Given the description of an element on the screen output the (x, y) to click on. 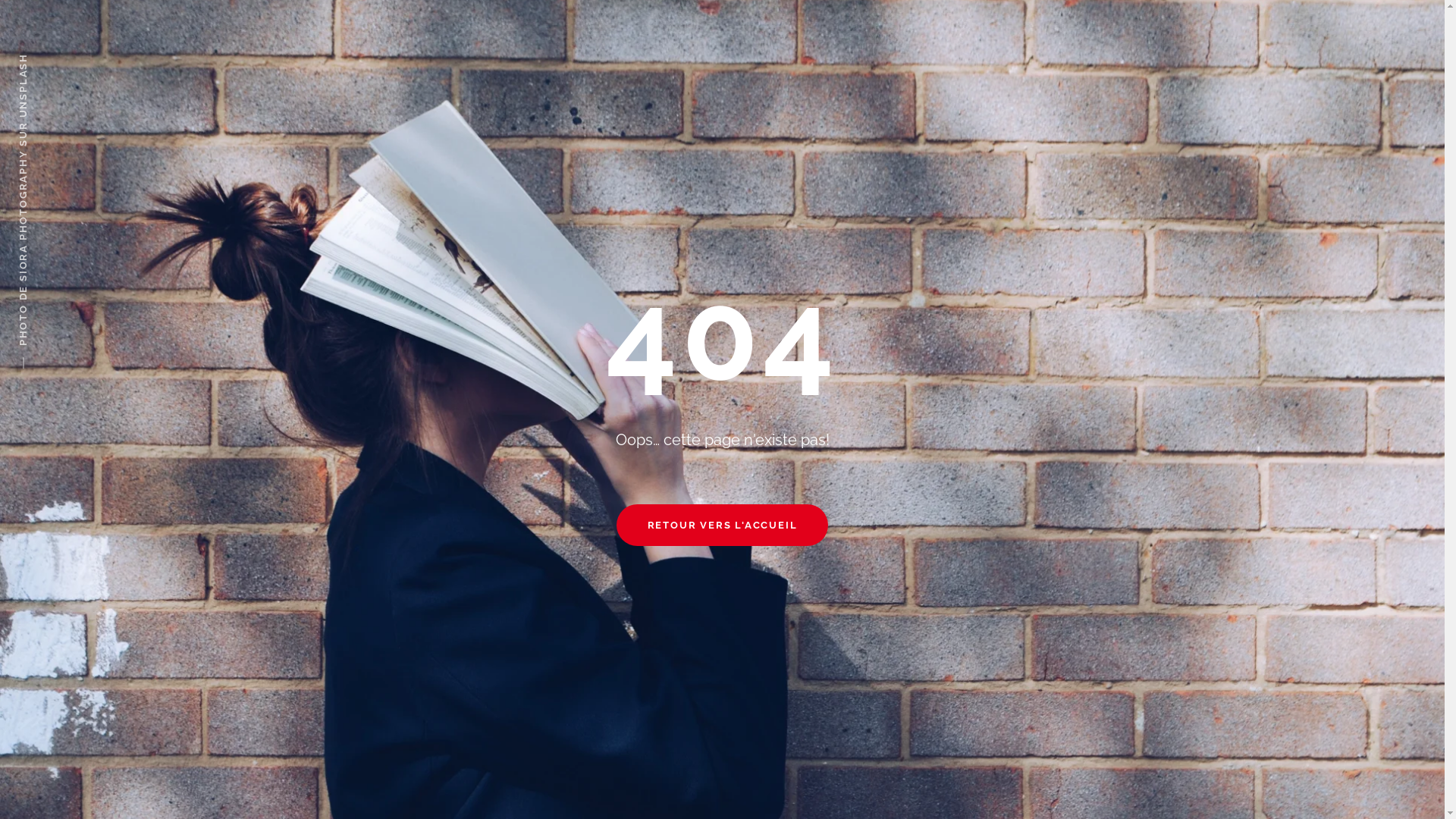
RETOUR VERS L'ACCUEIL Element type: text (722, 525)
